Given the description of an element on the screen output the (x, y) to click on. 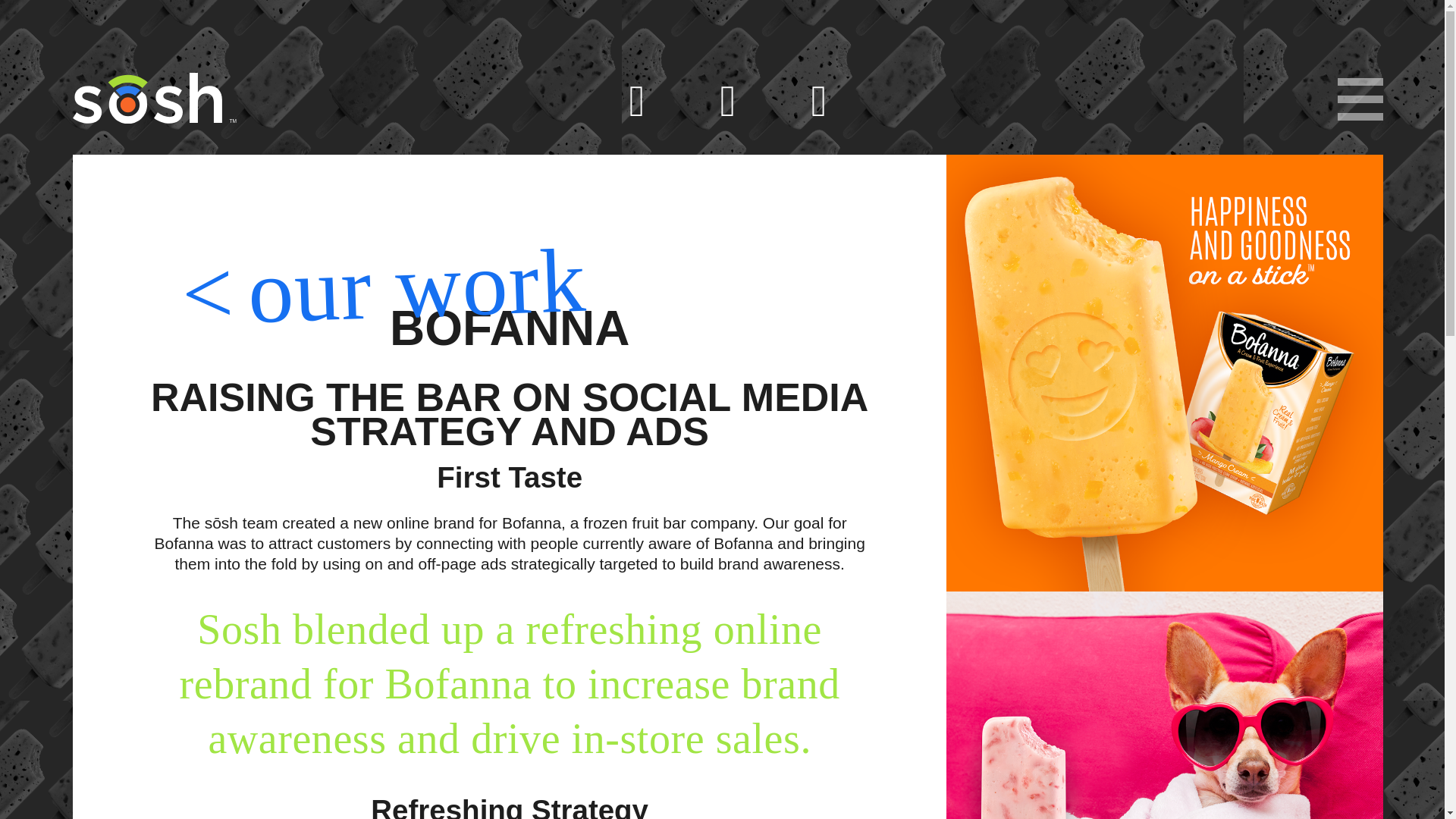
Instagram (727, 100)
Facebook (637, 100)
our work (382, 280)
Home (146, 97)
LinkedIn (819, 100)
